Given the description of an element on the screen output the (x, y) to click on. 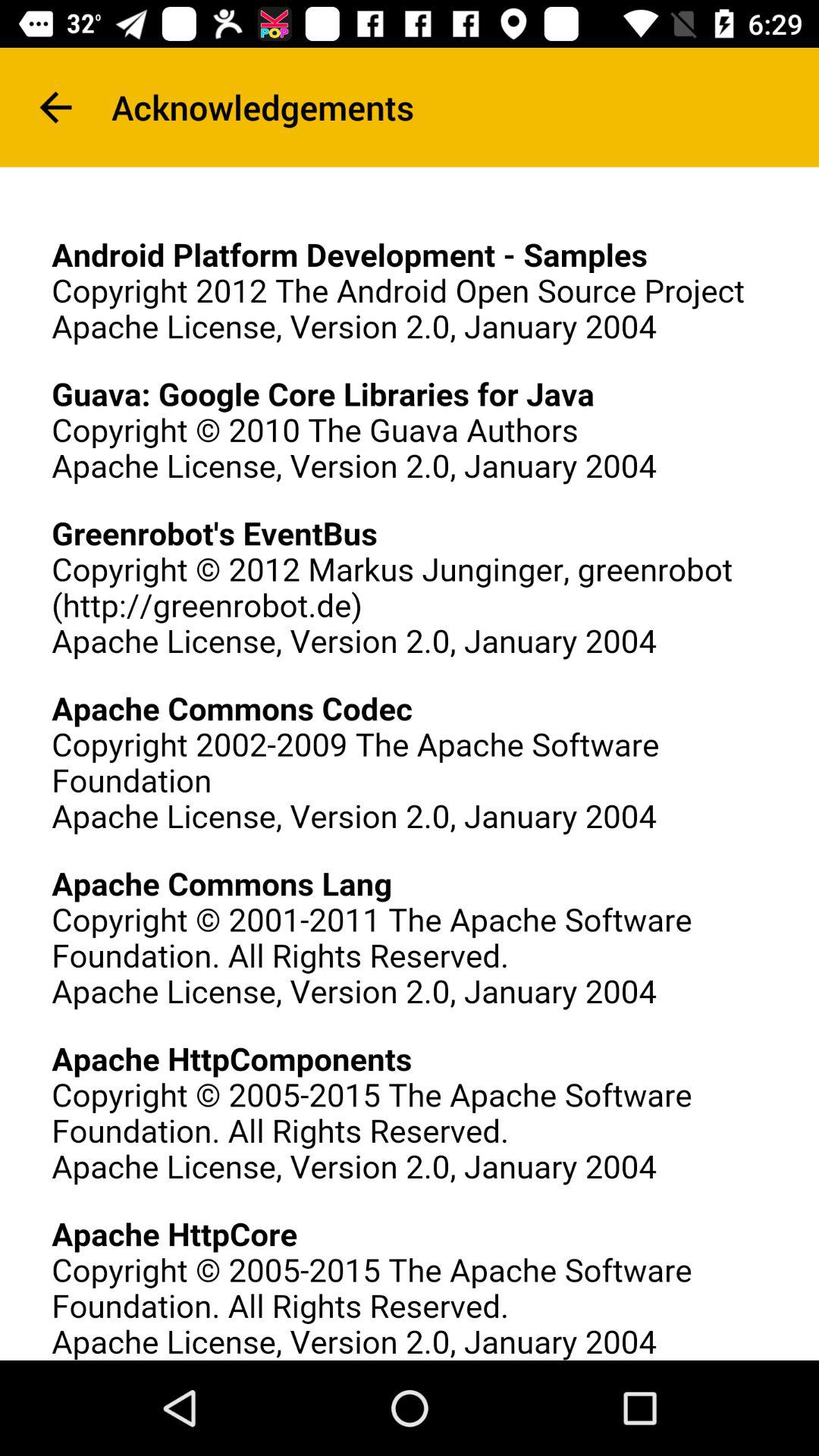
tap item next to acknowledgements item (55, 107)
